Given the description of an element on the screen output the (x, y) to click on. 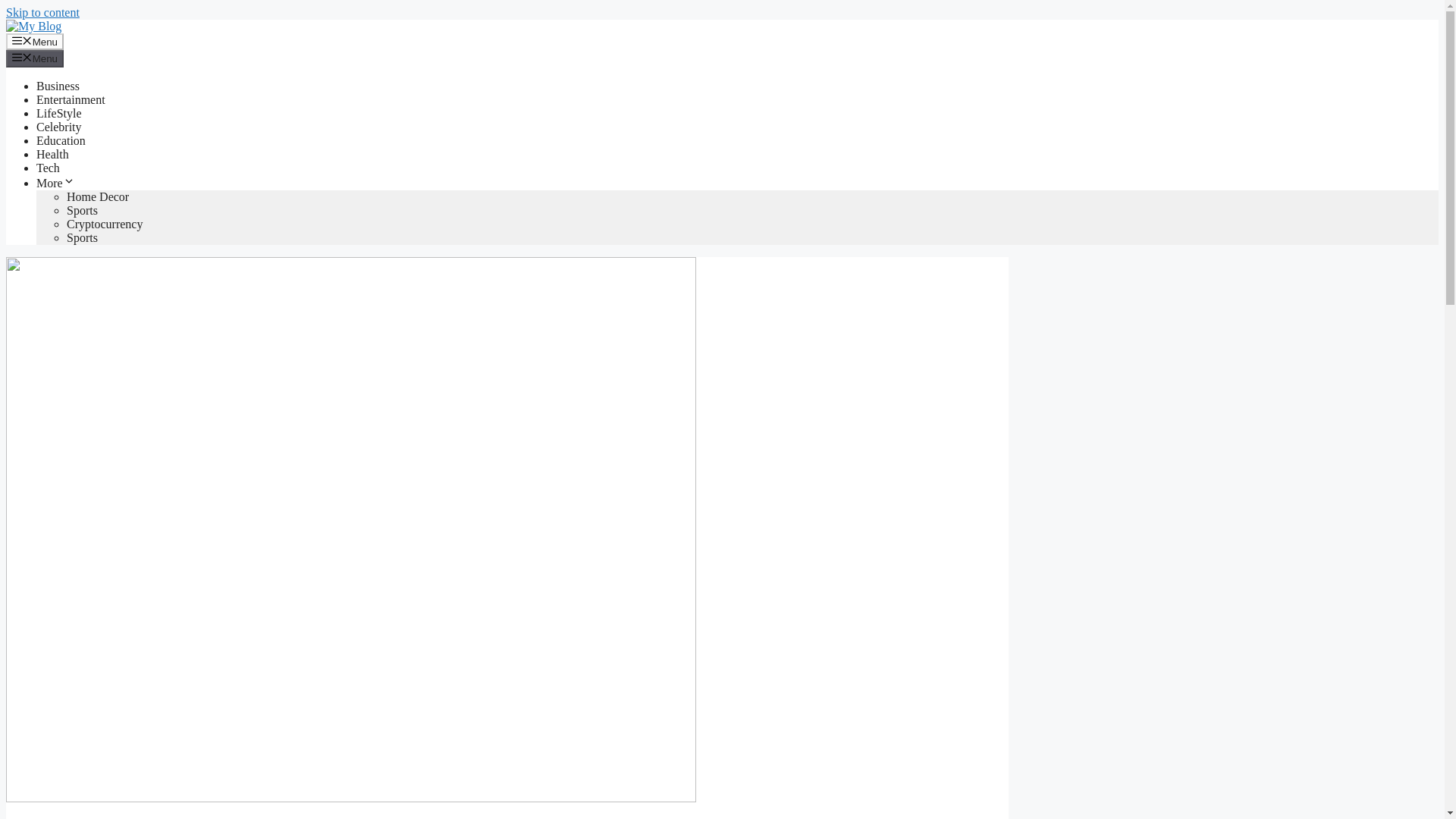
More (55, 182)
Business (58, 85)
LifeStyle (58, 113)
Menu (34, 57)
Menu (34, 41)
Sports (81, 210)
Entertainment (70, 99)
Skip to content (42, 11)
Home Decor (97, 196)
Health (52, 154)
